Given the description of an element on the screen output the (x, y) to click on. 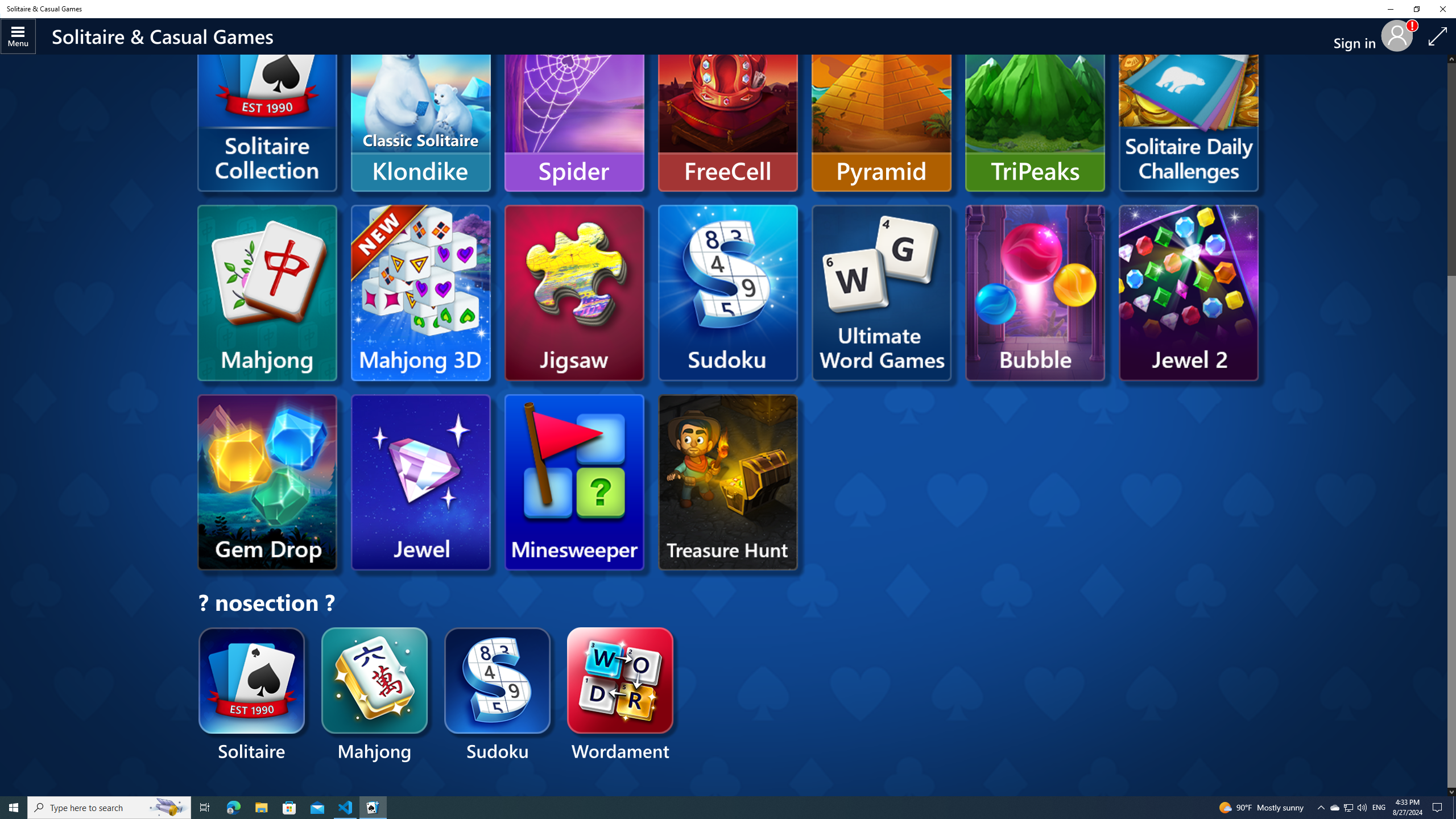
Classic Solitaire, Klondike (420, 103)
Solitaire & Casual Games - 1 running window (373, 807)
